Given the description of an element on the screen output the (x, y) to click on. 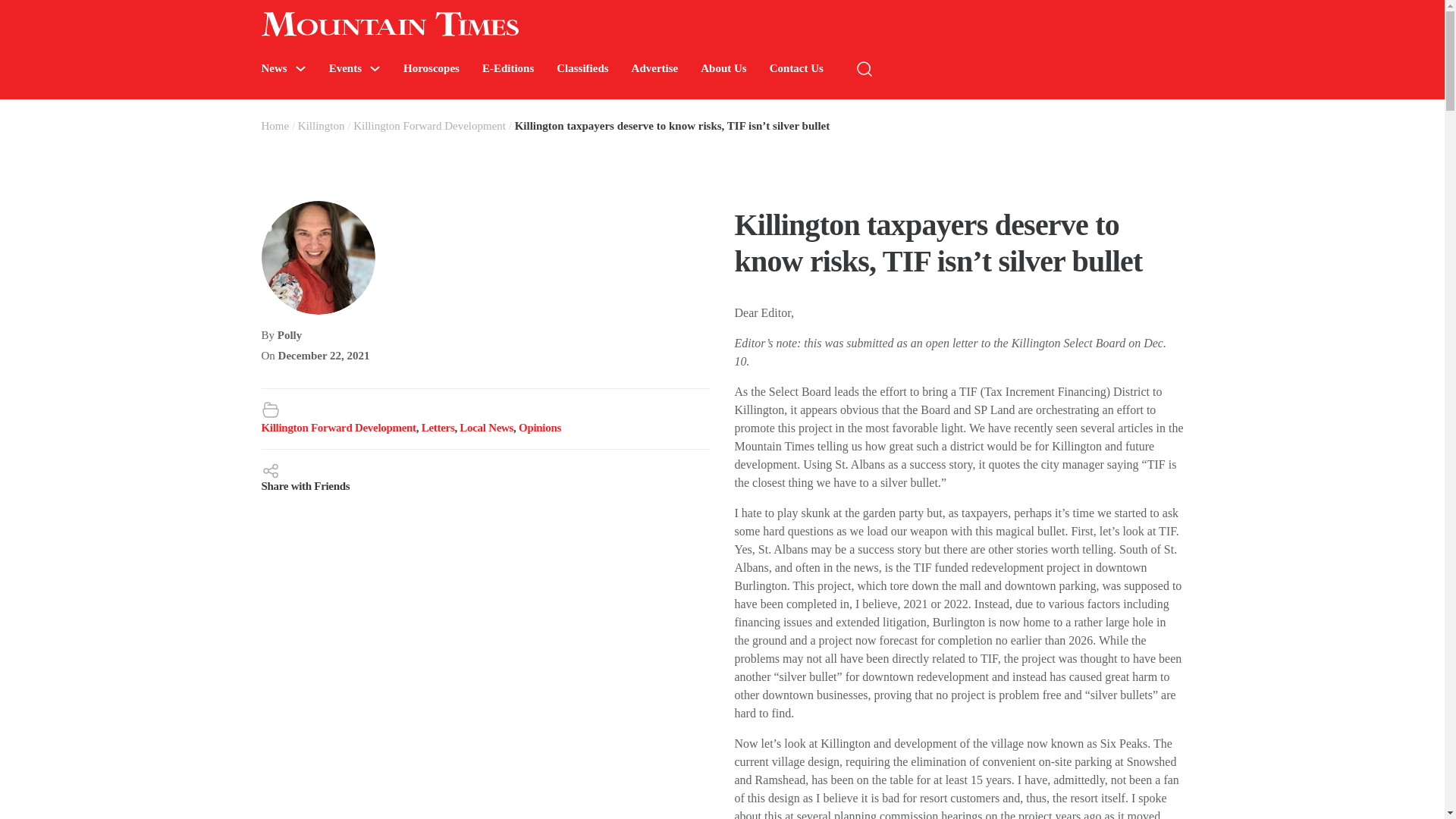
About Us (722, 67)
Killington Forward Development (429, 125)
Letters (438, 427)
Polly (290, 335)
Horoscopes (431, 67)
Classifieds (582, 67)
Search (1274, 114)
Advertise (654, 67)
News (273, 67)
Killington (321, 125)
